Given the description of an element on the screen output the (x, y) to click on. 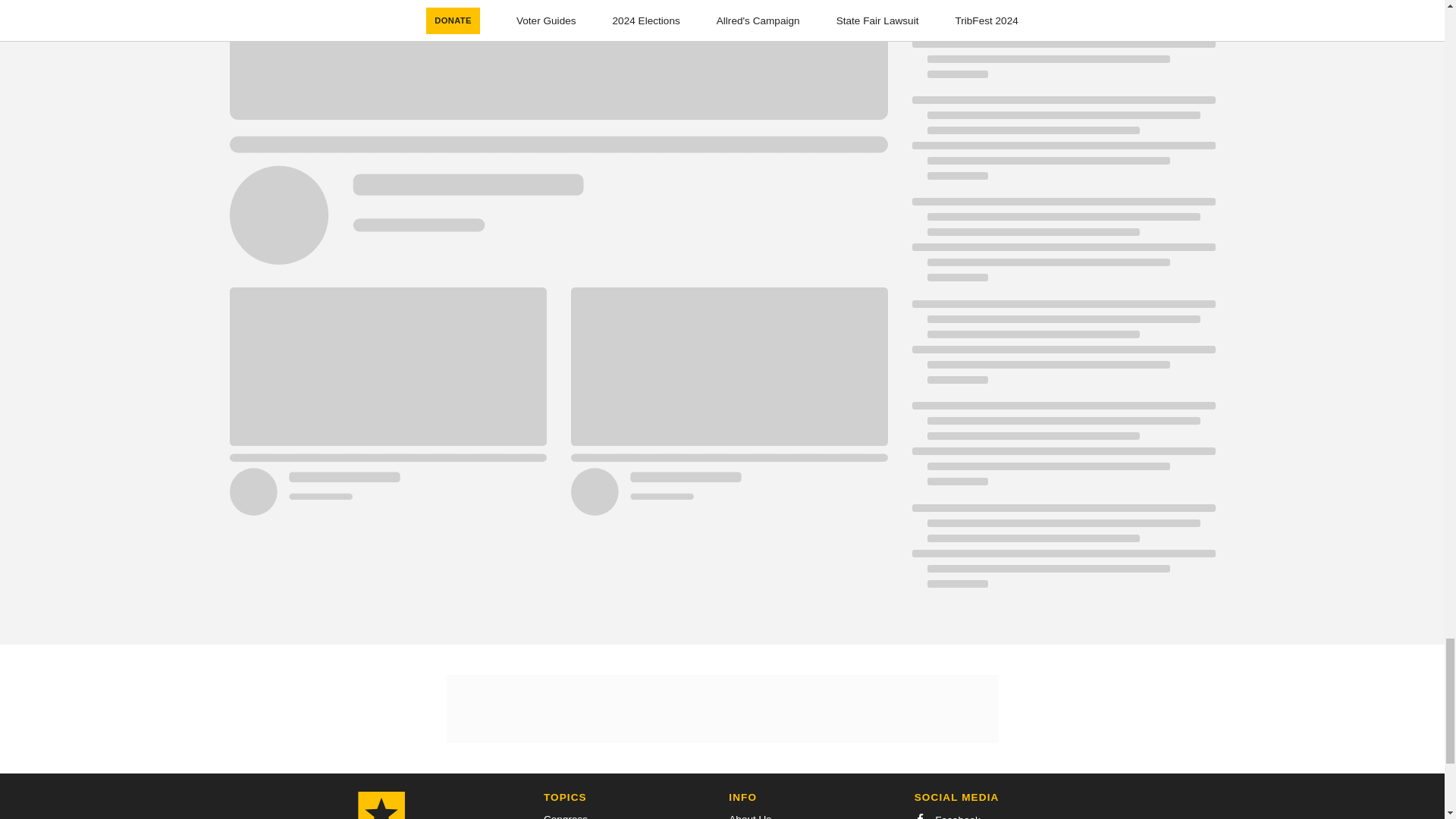
Loading indicator (1062, 247)
Loading indicator (1062, 451)
Loading indicator (1062, 553)
Loading indicator (1062, 46)
Loading indicator (1062, 349)
About Us (750, 816)
Loading indicator (1062, 145)
Facebook (946, 816)
